Given the description of an element on the screen output the (x, y) to click on. 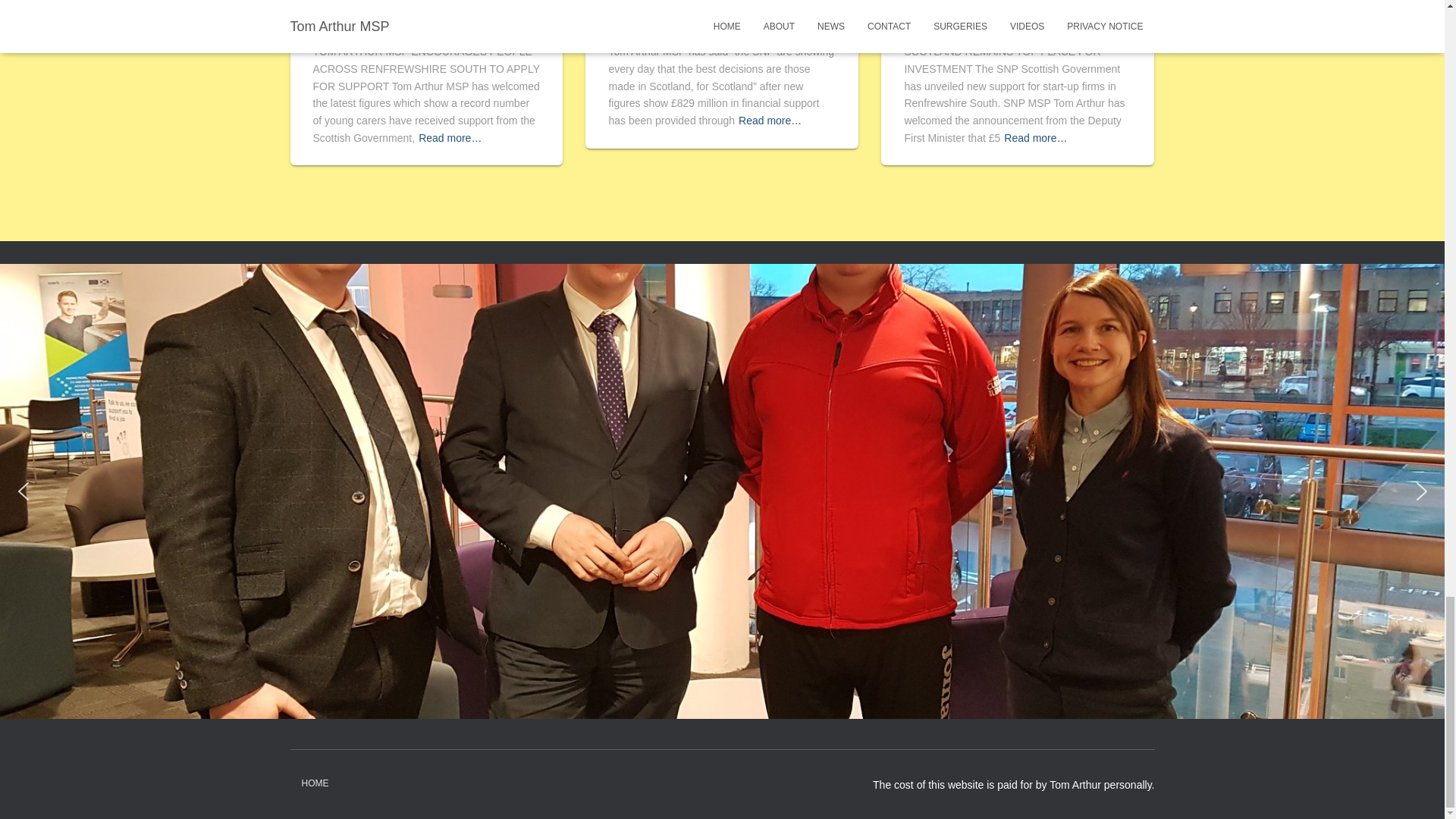
HOME (314, 783)
SNP UNVEIL NEW SUPPORT FOR START-UPS IN RENFREWSHIRE SOUTH (1011, 16)
RECORD NUMBER OF YOUNG CARERS SUPPORTED UNDER SNP GOVERNMENT (423, 16)
RECORD NUMBER OF YOUNG CARERS SUPPORTED UNDER SNP GOVERNMENT (423, 16)
